Given the description of an element on the screen output the (x, y) to click on. 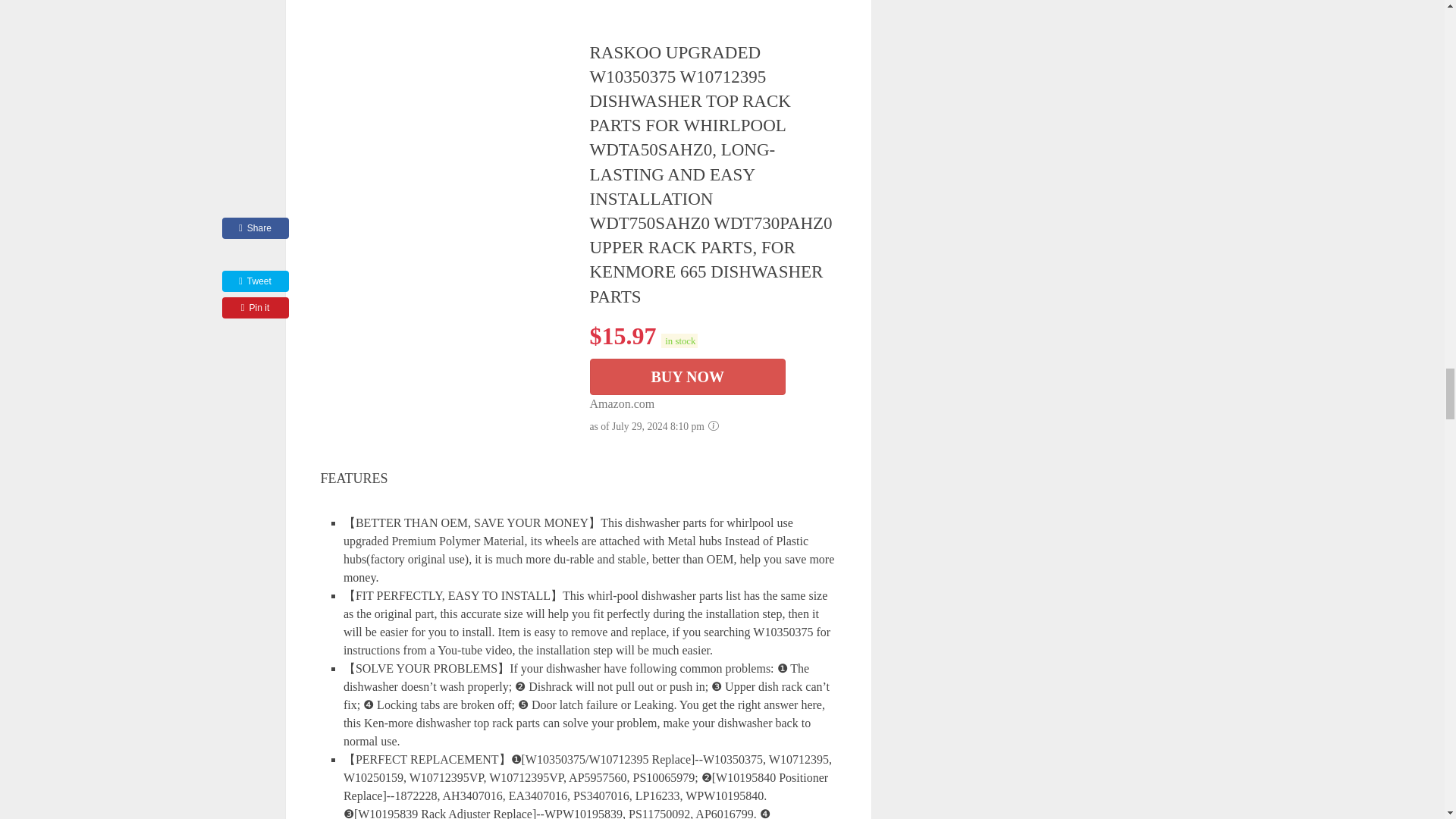
Last updated on July 29, 2024 8:10 pm (679, 340)
